Given the description of an element on the screen output the (x, y) to click on. 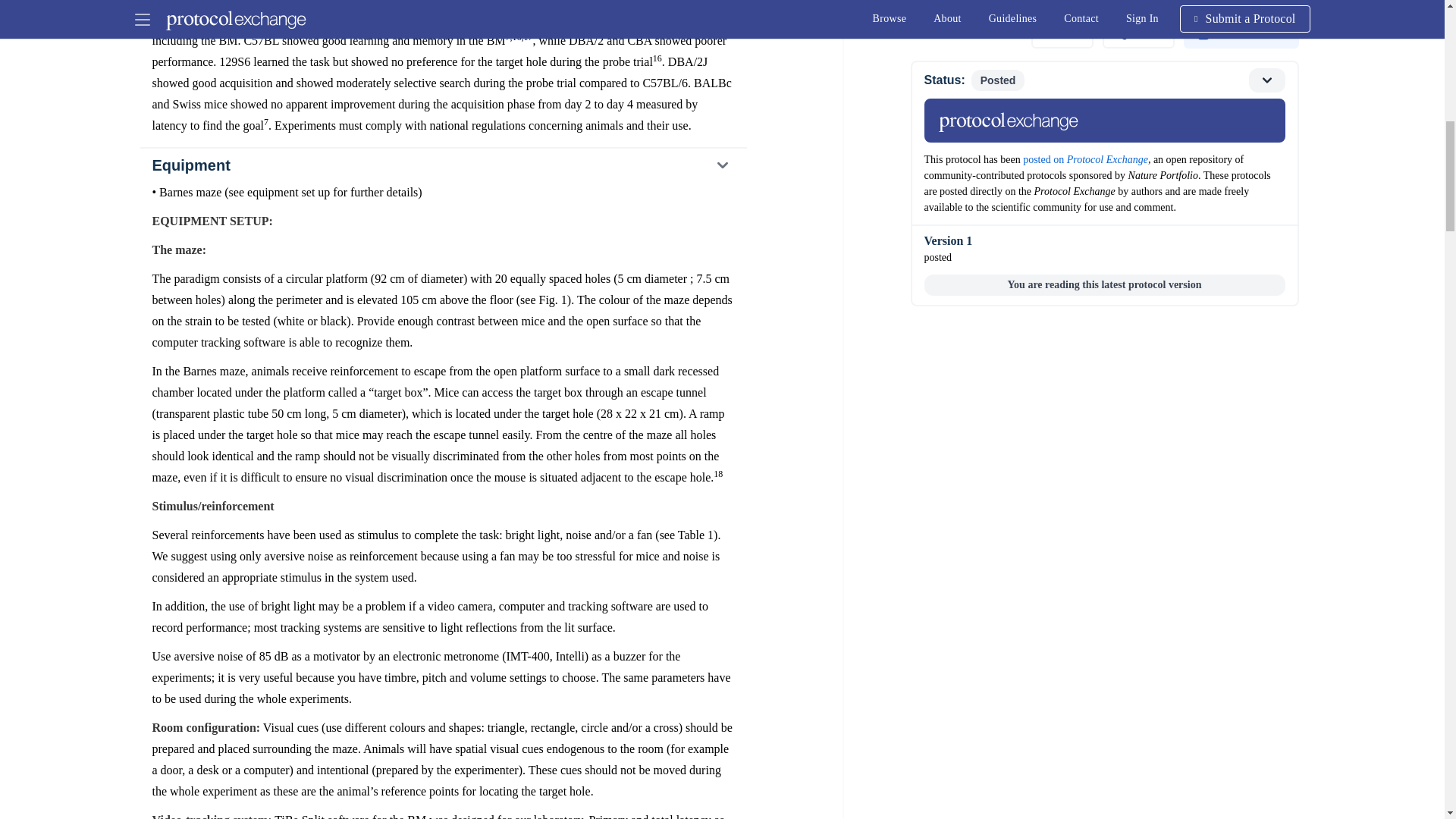
Reagents (442, 4)
Equipment (442, 164)
